Given the description of an element on the screen output the (x, y) to click on. 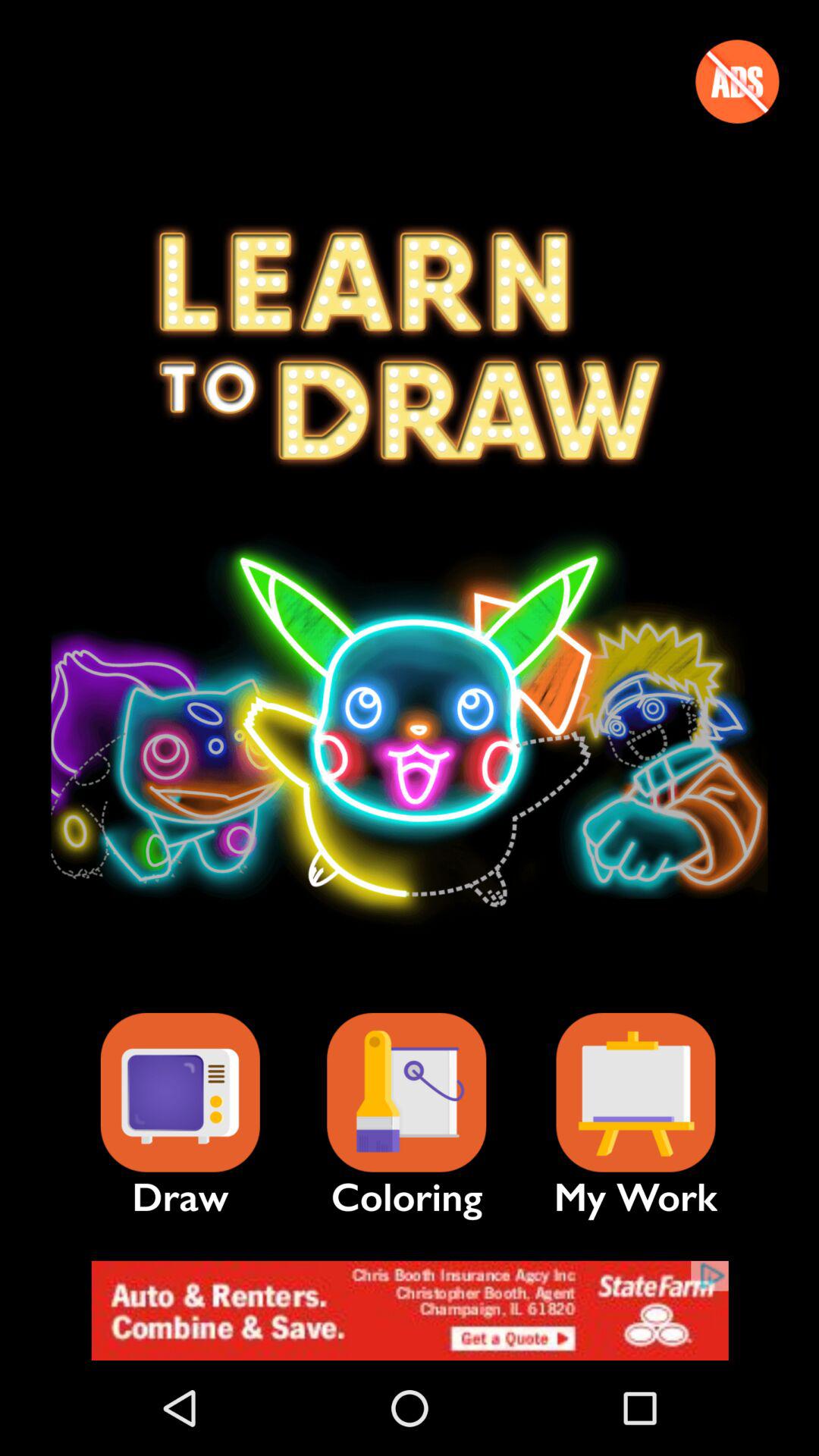
open coloring widget (406, 1092)
